Given the description of an element on the screen output the (x, y) to click on. 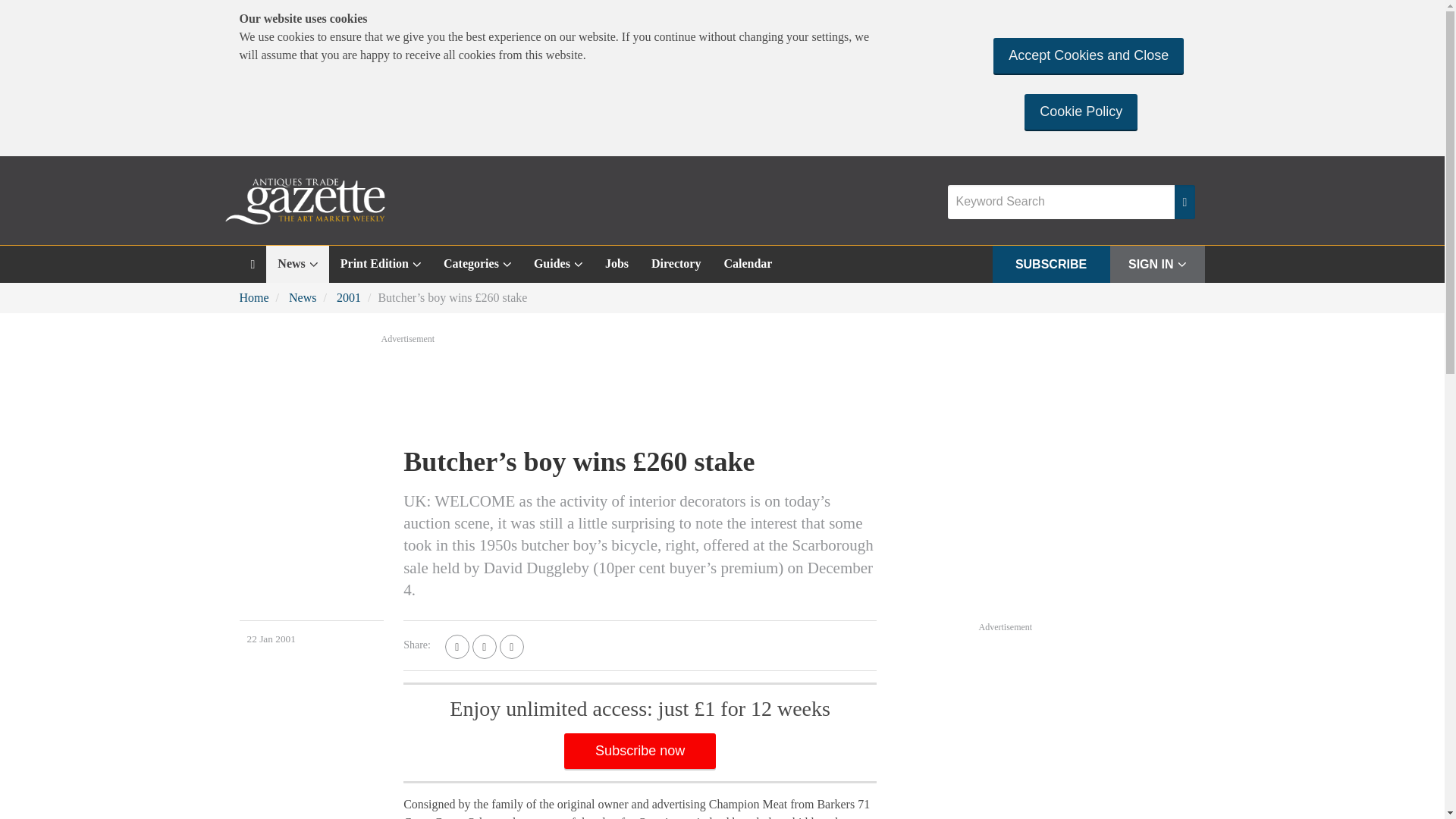
Cookie Policy (1081, 111)
Keyword Search (1060, 202)
News (297, 263)
home (253, 263)
3rd party ad content (1091, 726)
3rd party ad content (721, 387)
Search (1184, 202)
